Given the description of an element on the screen output the (x, y) to click on. 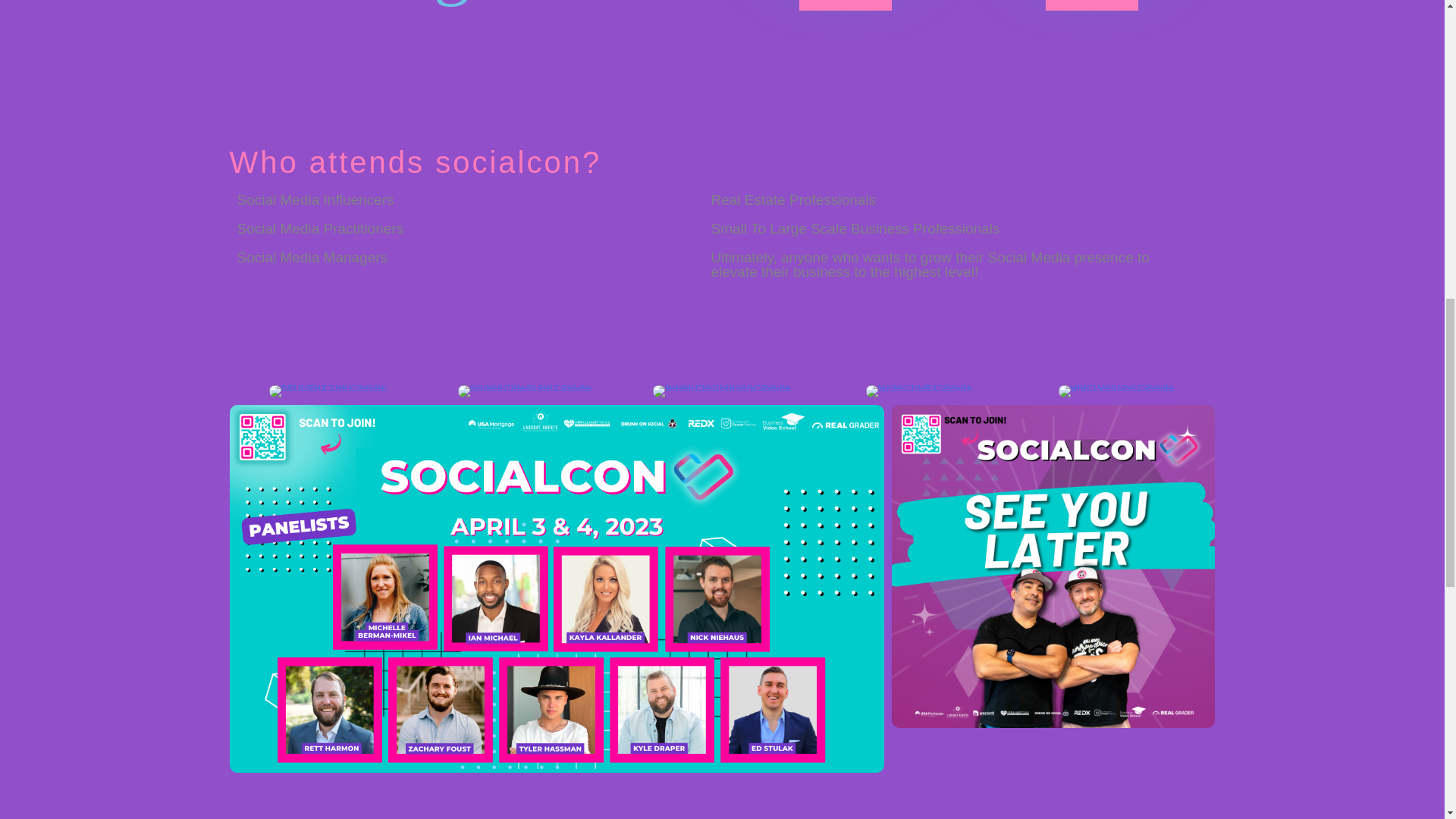
read bio (845, 4)
read bio (1091, 4)
